Given the description of an element on the screen output the (x, y) to click on. 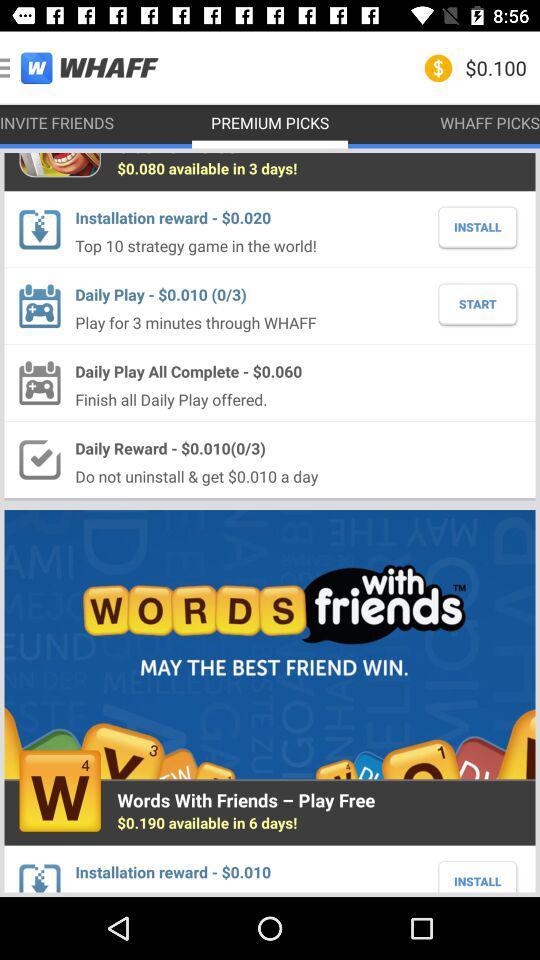
turn on icon next to the premium picks item (57, 122)
